Given the description of an element on the screen output the (x, y) to click on. 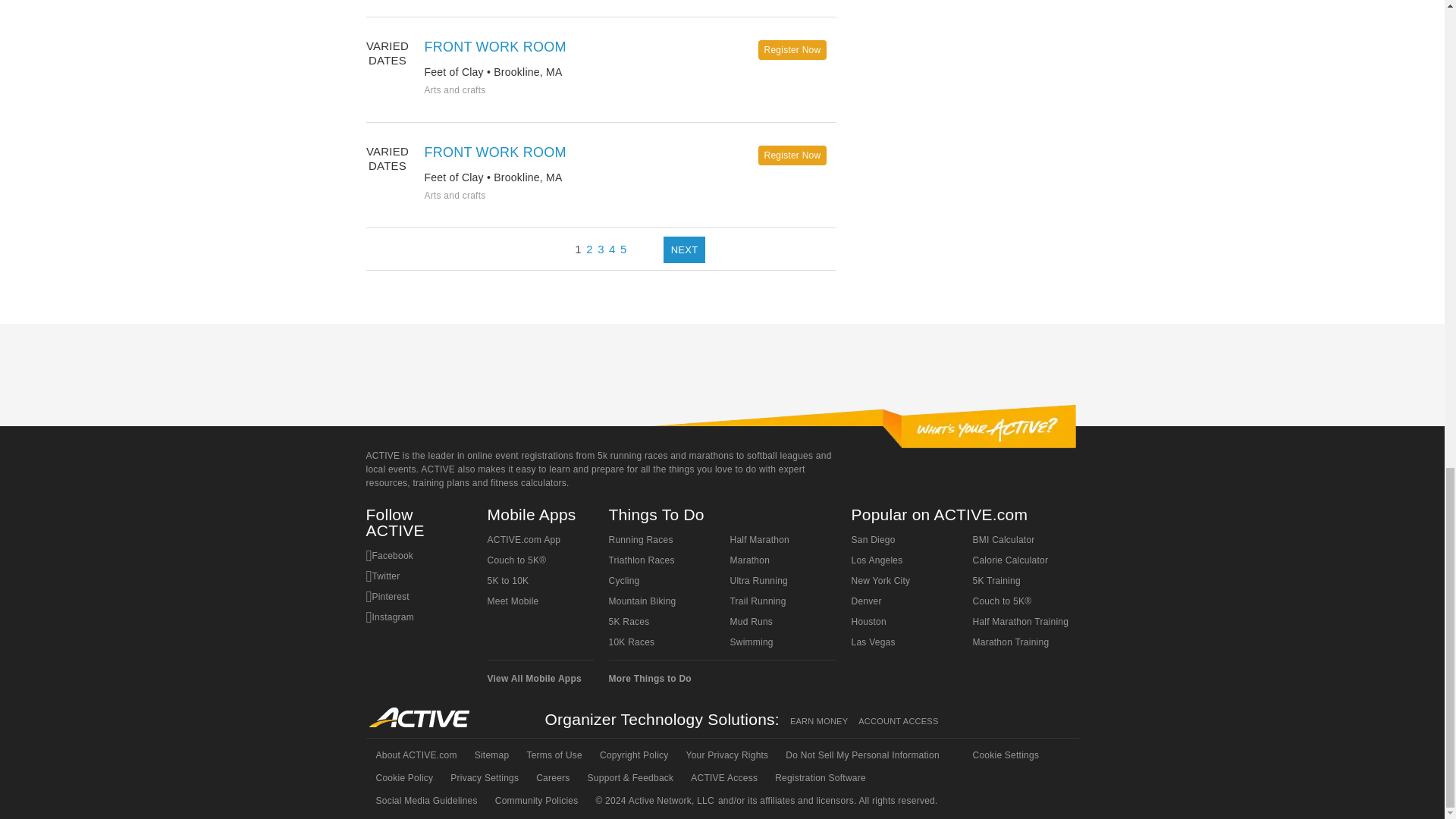
Careers at Active (550, 777)
Privacy Settings (483, 777)
Do Not Sell My Personal Information (861, 754)
Your Privacy Rights: Updated (726, 754)
Cookie Policy (403, 777)
Terms of Use (552, 754)
Copyright Policy (633, 754)
